Given the description of an element on the screen output the (x, y) to click on. 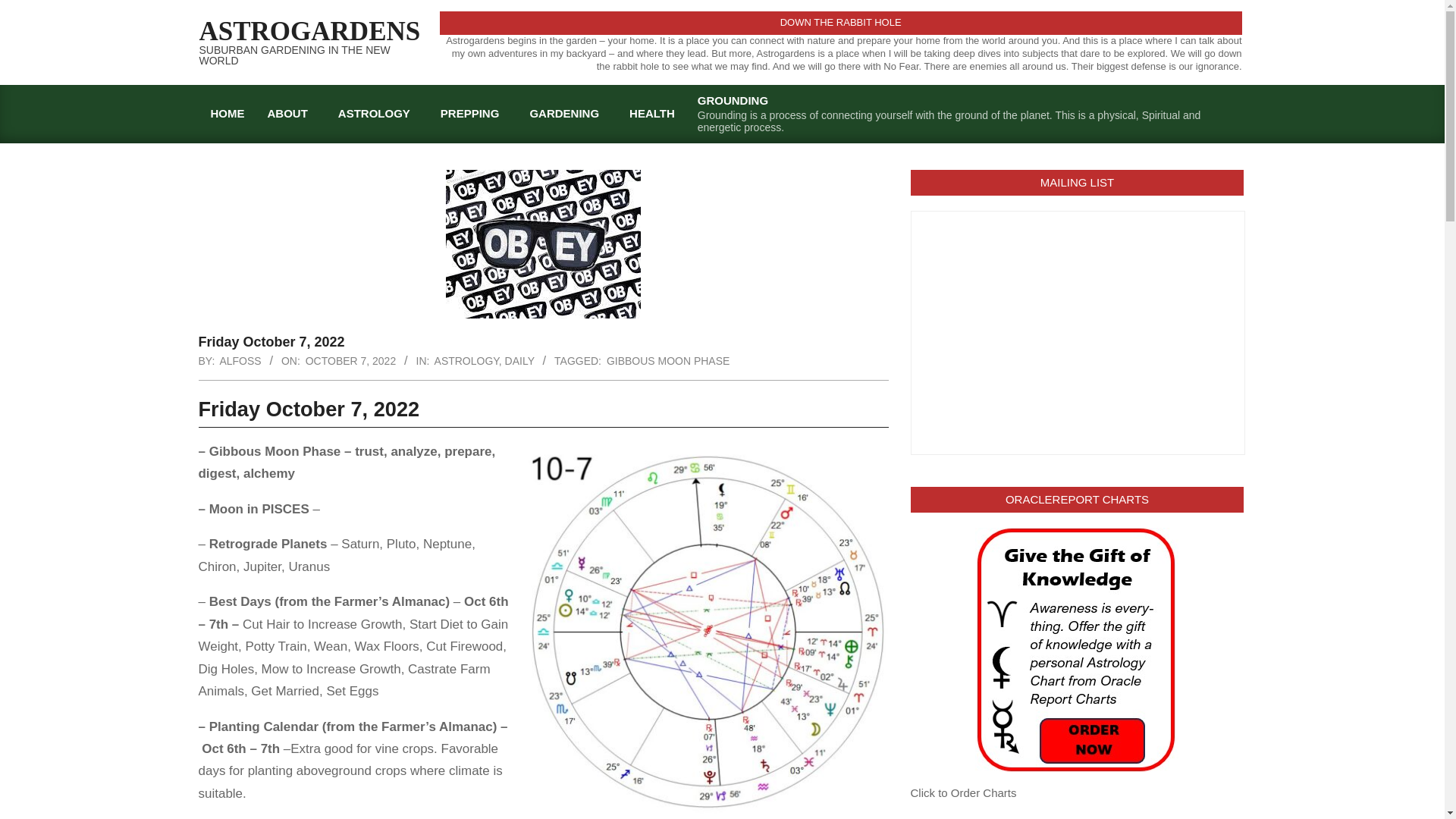
ASTROLOGY (377, 113)
GIBBOUS MOON PHASE (668, 360)
Posts by alfoss (239, 360)
Friday, October 7, 2022, 3:03 pm (350, 360)
HOME (227, 113)
PREPPING (473, 113)
ABOUT (291, 113)
HEALTH (651, 113)
ALFOSS (239, 360)
